Given the description of an element on the screen output the (x, y) to click on. 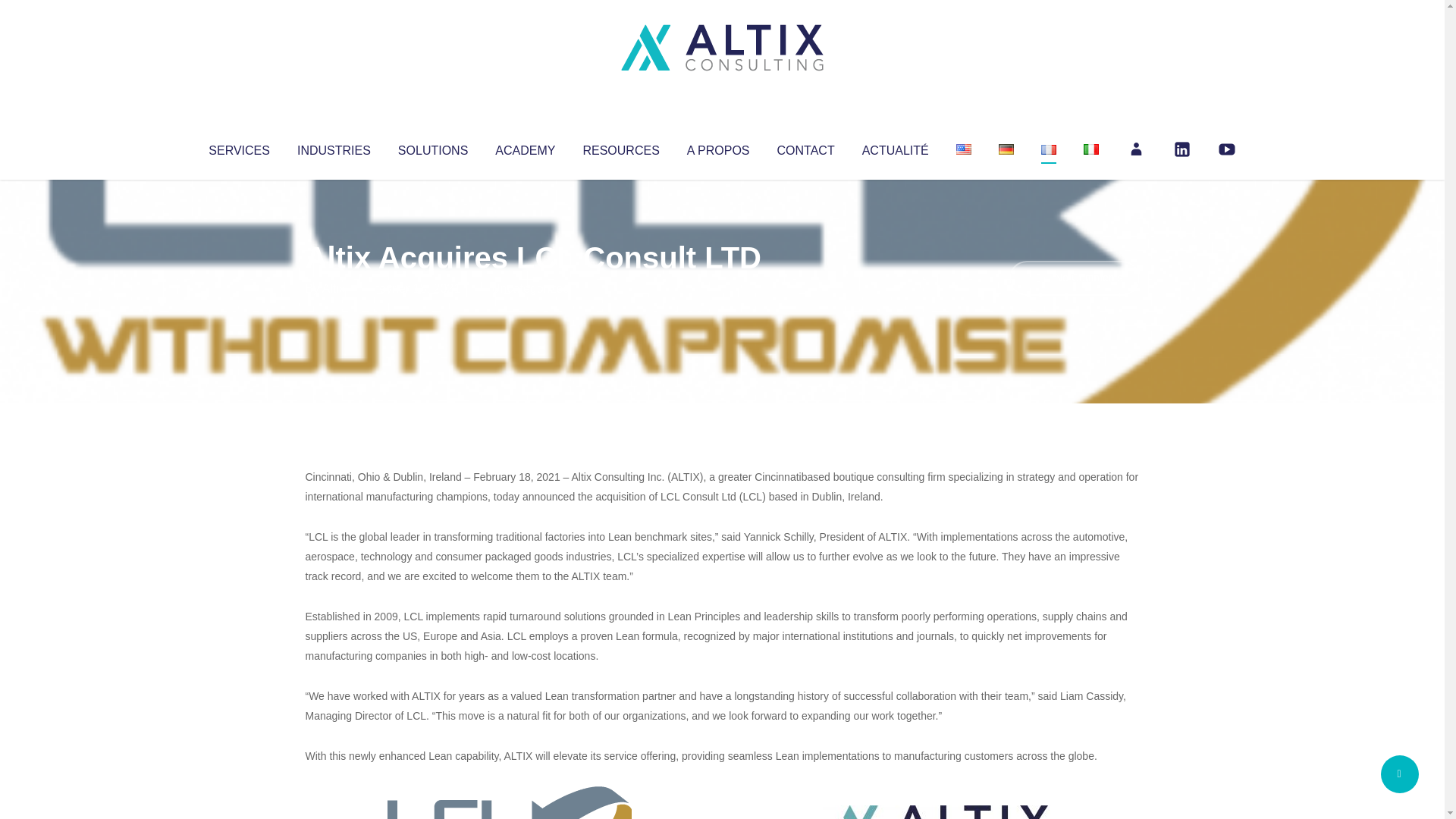
SERVICES (238, 146)
RESOURCES (620, 146)
Uncategorized (530, 287)
ACADEMY (524, 146)
Articles par Altix (333, 287)
Altix (333, 287)
SOLUTIONS (432, 146)
No Comments (1073, 278)
A PROPOS (718, 146)
INDUSTRIES (334, 146)
